Given the description of an element on the screen output the (x, y) to click on. 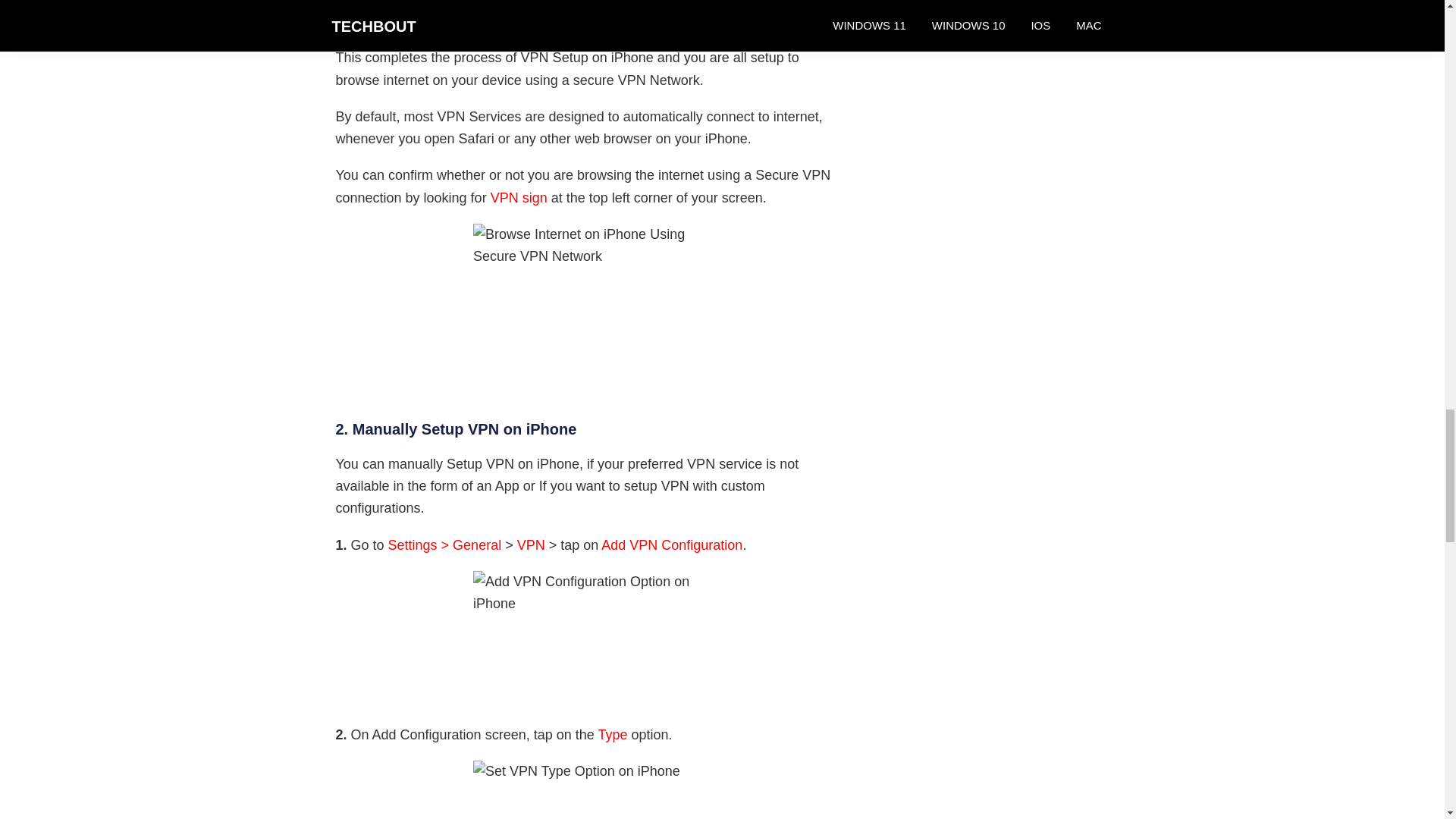
Browse Internet on iPhone Using Secure VPN Network (586, 310)
Add VPN Configuration Option on iPhone (586, 635)
Continue With VPN Setup on iPhone (586, 12)
Set VPN Type Option on iPhone  (586, 789)
